Given the description of an element on the screen output the (x, y) to click on. 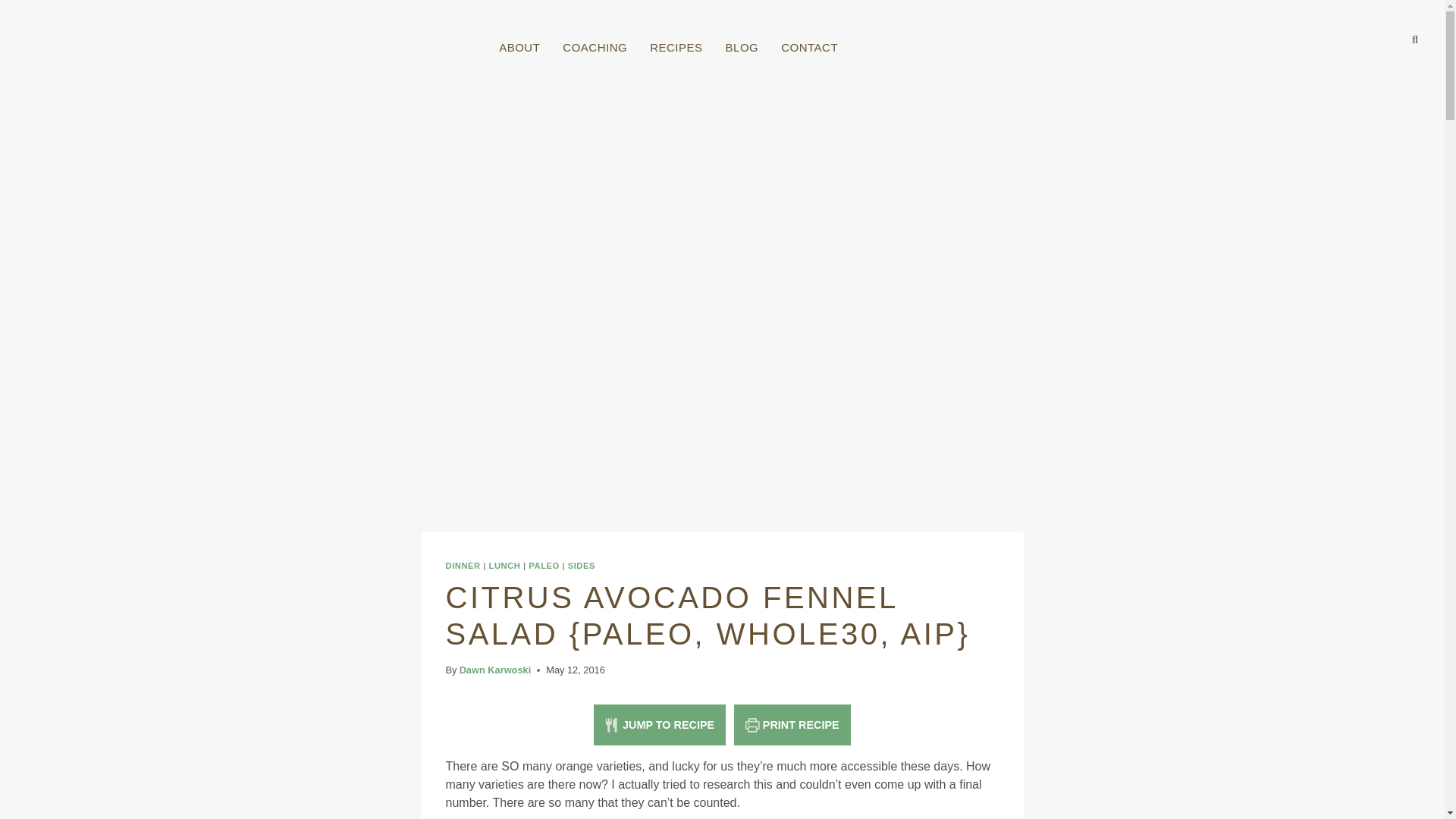
PALEO (543, 565)
SIDES (581, 565)
COACHING (595, 47)
LUNCH (505, 565)
CONTACT (809, 47)
Dawn Karwoski (495, 669)
DINNER (462, 565)
ABOUT (519, 47)
BLOG (742, 47)
RECIPES (676, 47)
PRINT RECIPE (791, 724)
JUMP TO RECIPE (659, 724)
